Given the description of an element on the screen output the (x, y) to click on. 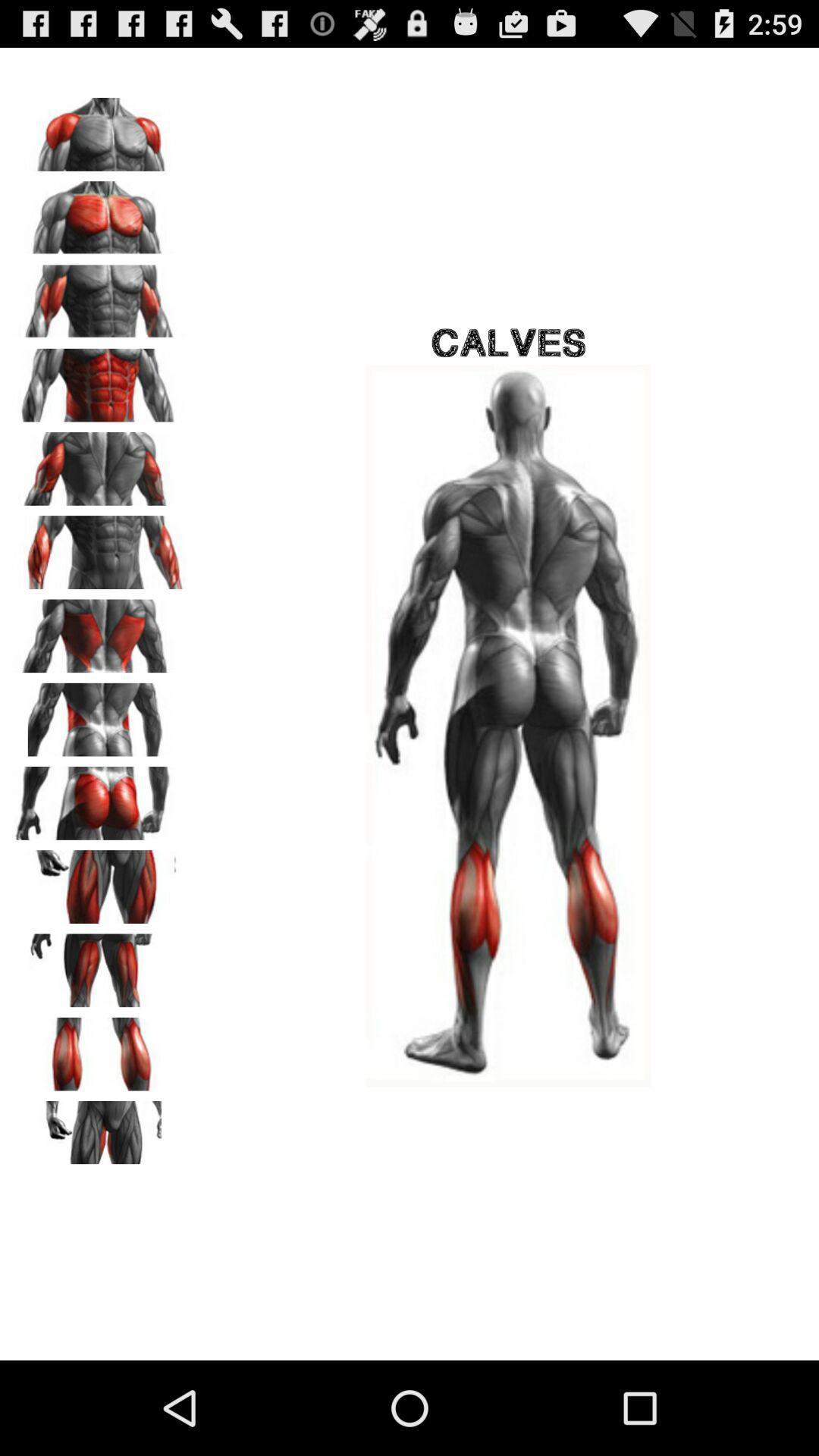
hamstring muscles in back of the leg (99, 965)
